Given the description of an element on the screen output the (x, y) to click on. 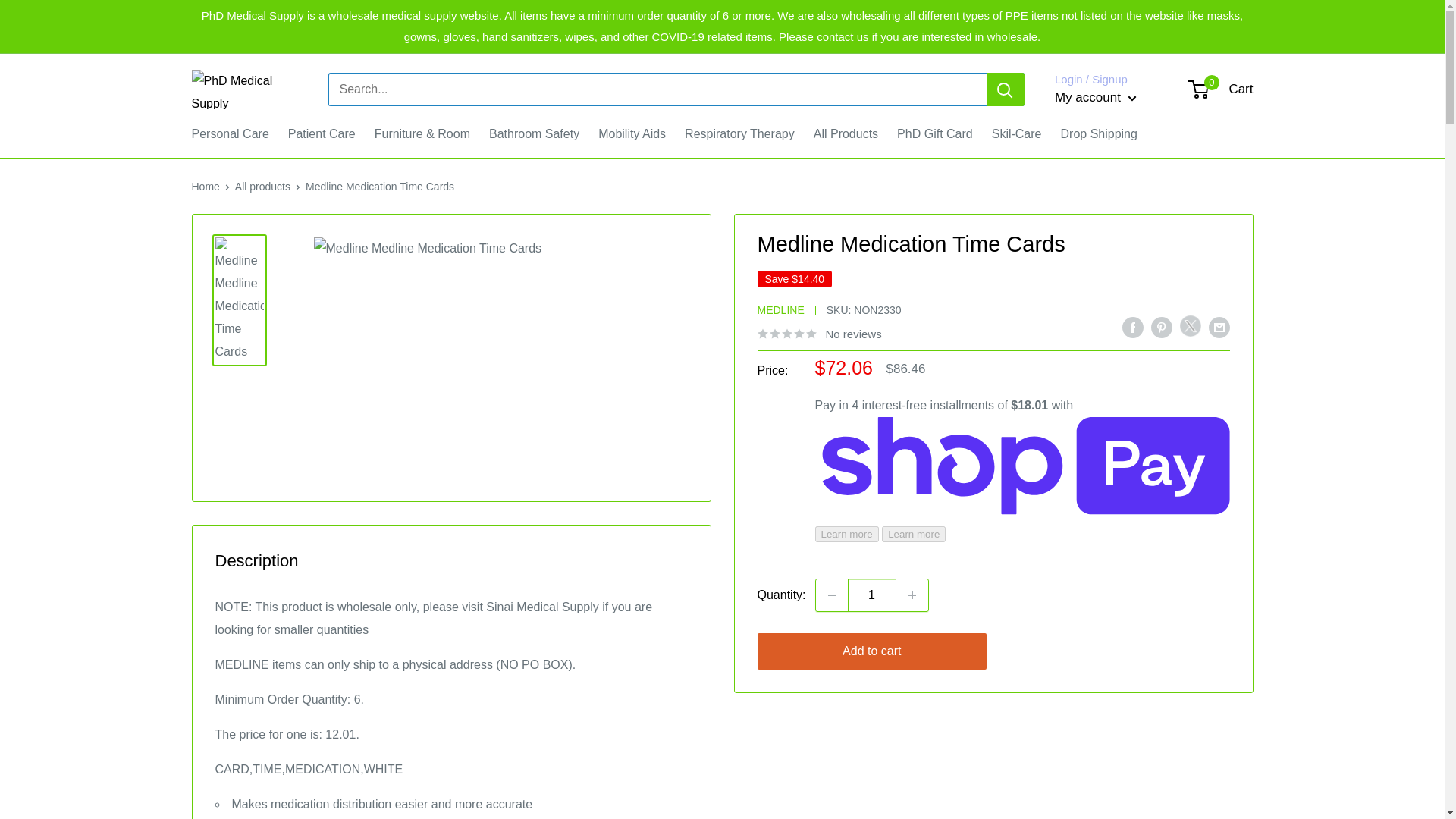
Bathroom Safety (1221, 88)
Skil-Care (534, 133)
PhD Gift Card (1016, 133)
Drop Shipping (934, 133)
Patient Care (1098, 133)
Respiratory Therapy (321, 133)
Mobility Aids (739, 133)
Personal Care (631, 133)
All Products (228, 133)
Decrease quantity by 1 (845, 133)
1 (831, 594)
Home (871, 594)
Increase quantity by 1 (204, 186)
PhD Medical Supply (912, 594)
